Given the description of an element on the screen output the (x, y) to click on. 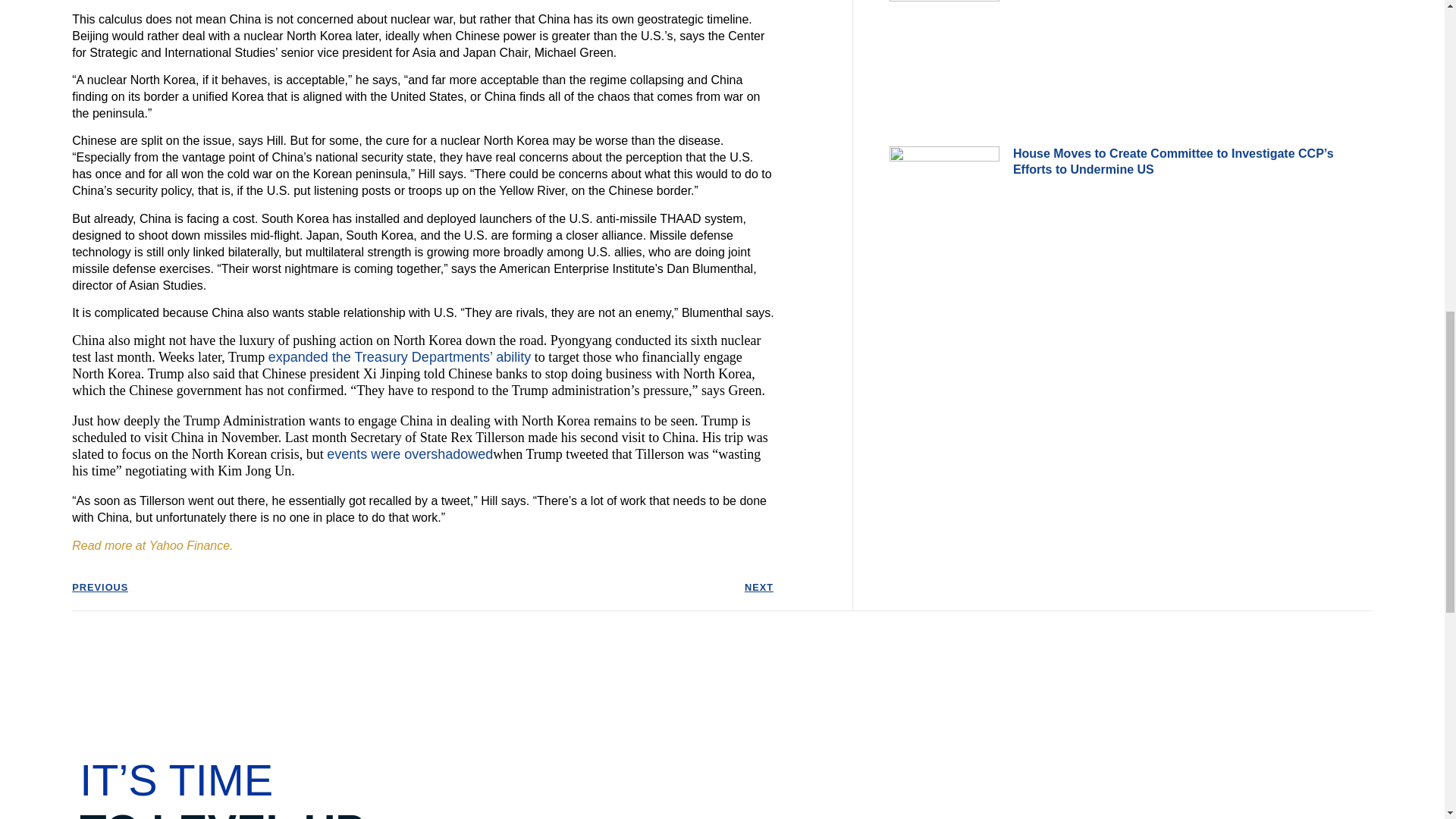
events were overshadowed (409, 453)
PREVIOUS (246, 586)
NEXT (598, 586)
Yahoo Finance (189, 545)
